Given the description of an element on the screen output the (x, y) to click on. 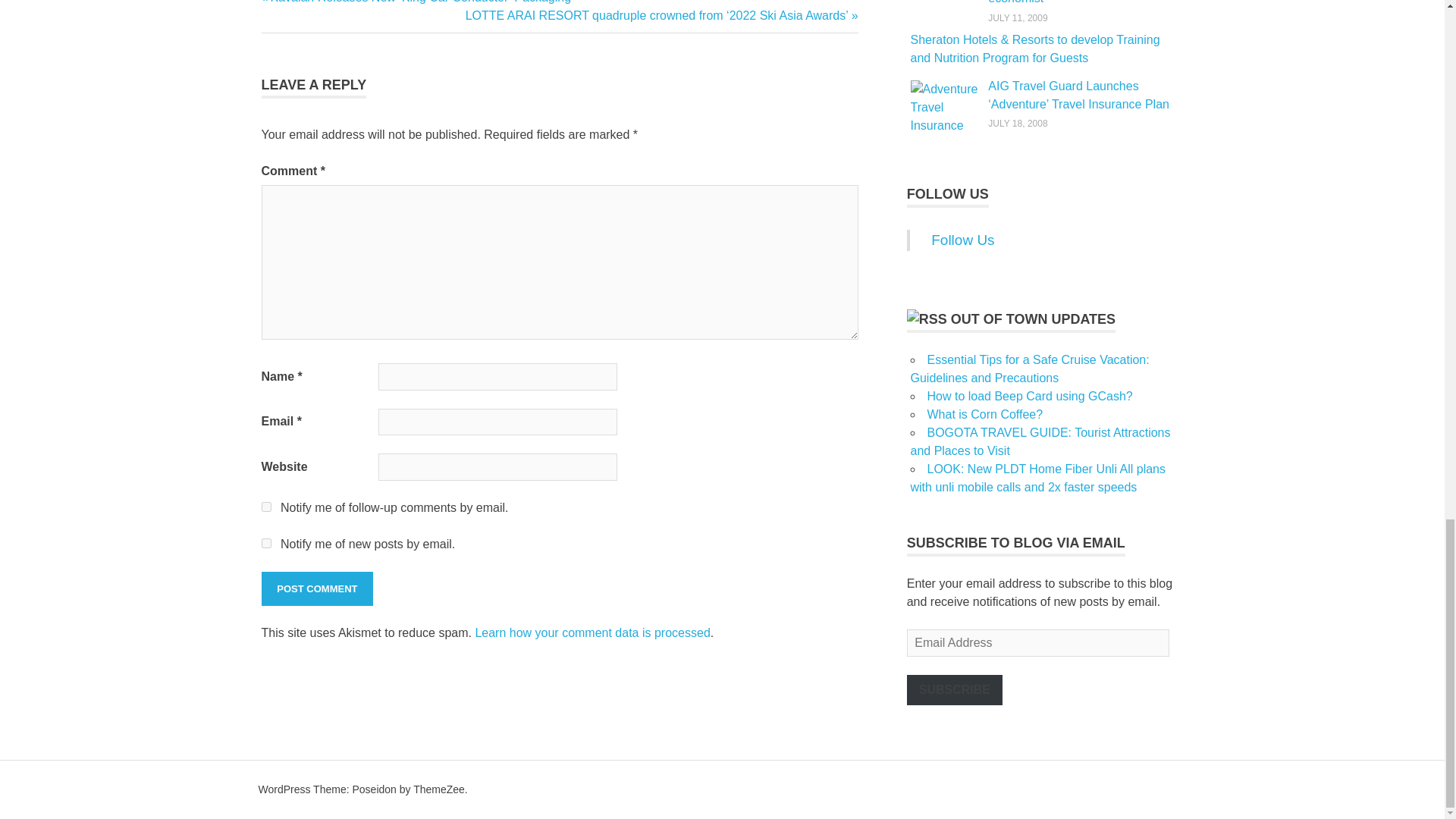
Post Comment (316, 588)
subscribe (265, 542)
Post Comment (316, 588)
subscribe (265, 506)
Learn how your comment data is processed (592, 632)
